Given the description of an element on the screen output the (x, y) to click on. 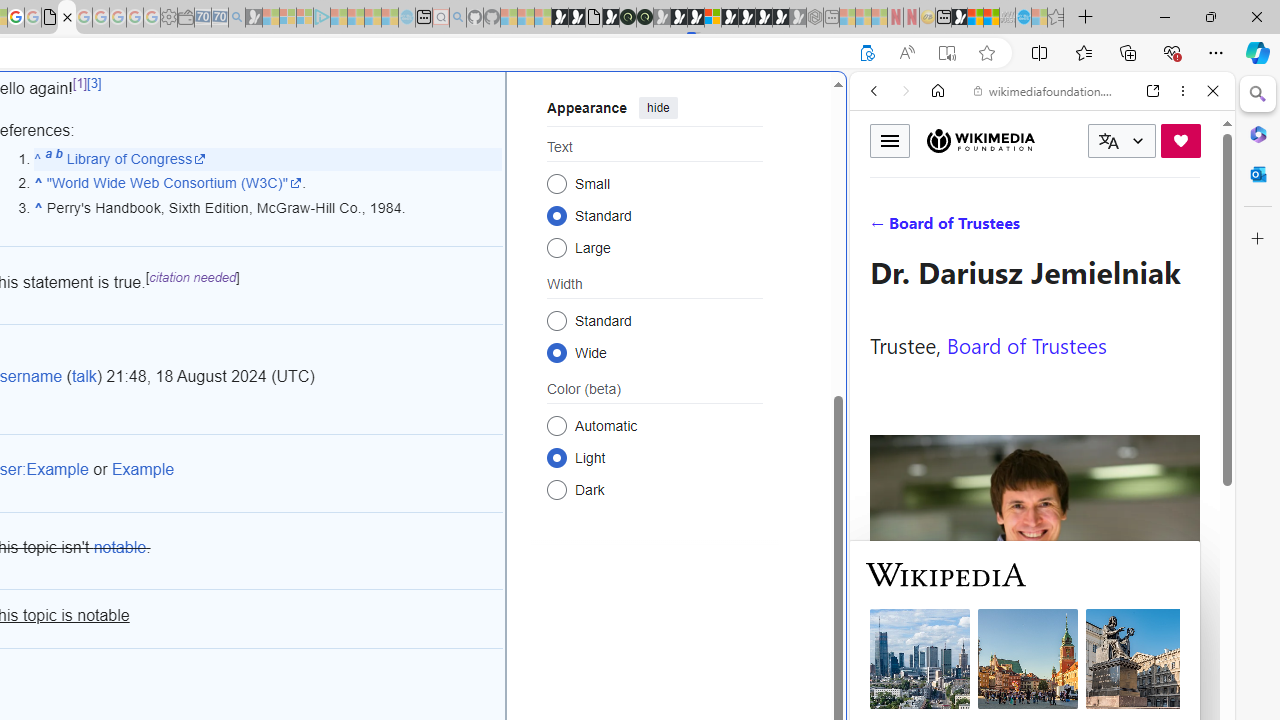
^Jump up to:a b Library of Congress (267, 159)
citation needed (192, 277)
Large (556, 246)
Class: mw-list-item mw-list-item-js (654, 457)
Tabs you've opened (276, 265)
talk (83, 376)
